Given the description of an element on the screen output the (x, y) to click on. 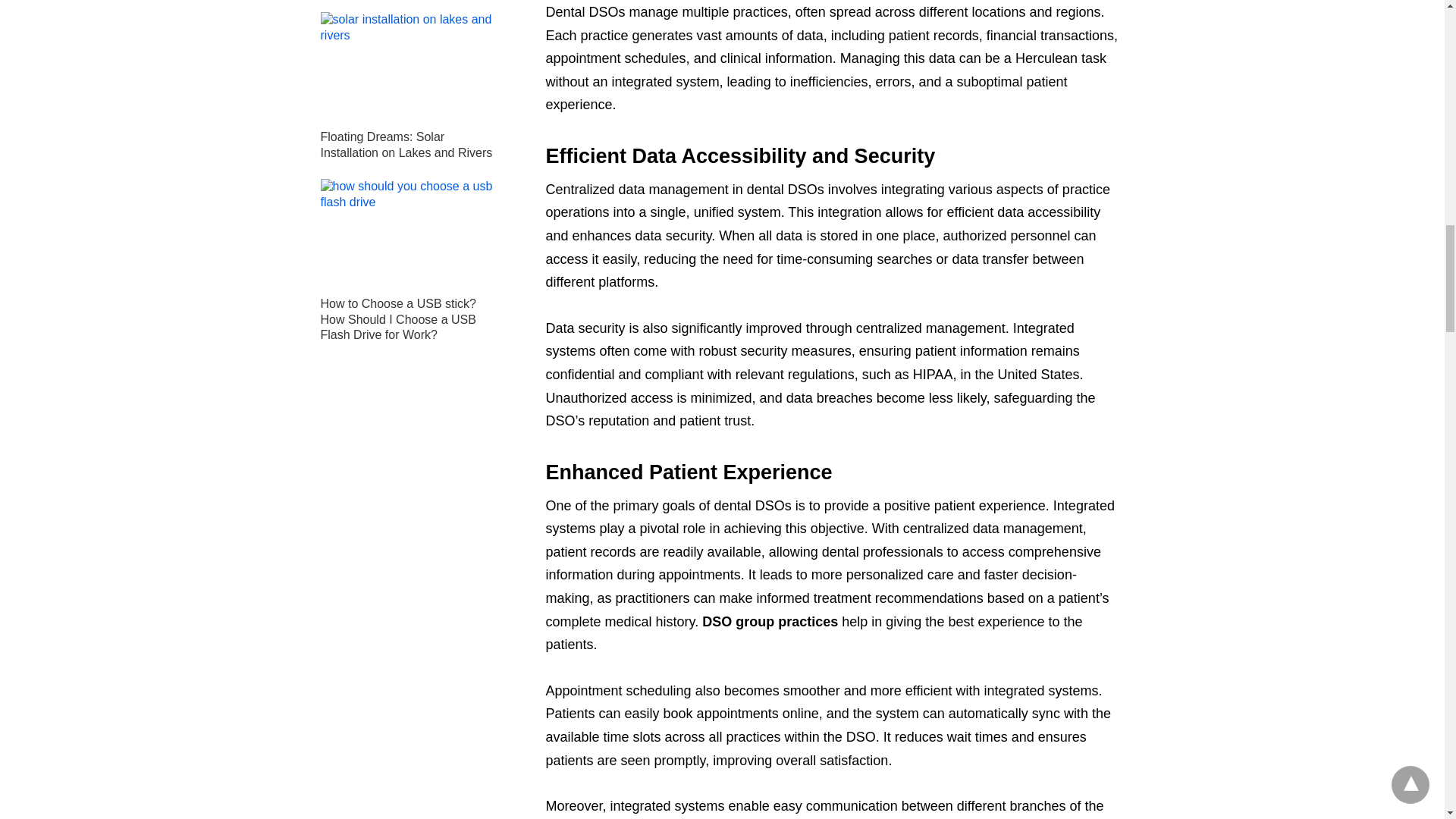
Floating Dreams: Solar Installation on Lakes and Rivers (406, 144)
Floating Dreams: Solar Installation on Lakes and Rivers (409, 66)
Floating Dreams: Solar Installation on Lakes and Rivers (406, 144)
